Given the description of an element on the screen output the (x, y) to click on. 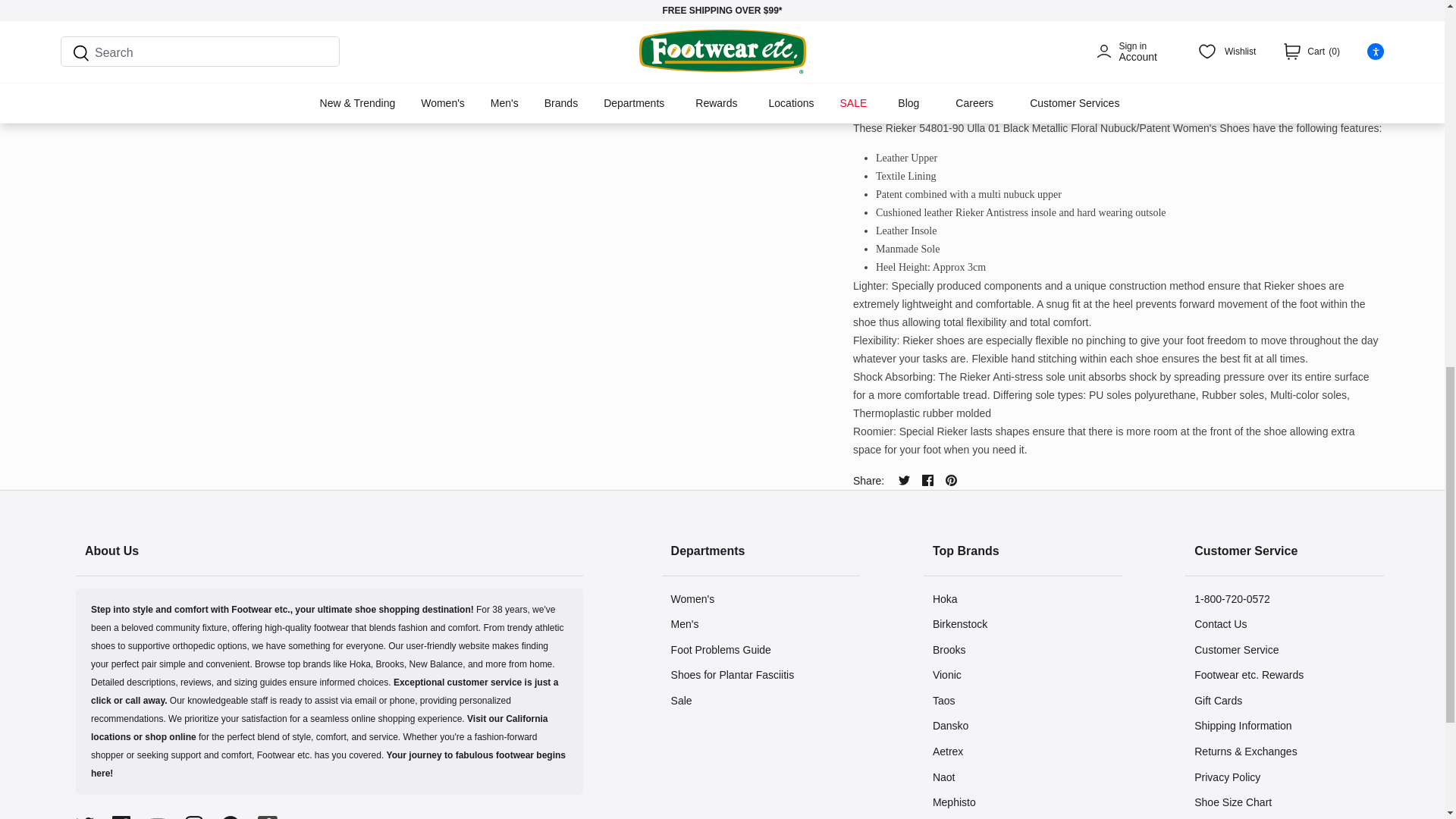
Twitter (84, 817)
Youtube (157, 817)
Twitter (904, 480)
Facebook (121, 817)
Pinterest (950, 480)
Instagram (193, 817)
Pinterest (230, 817)
Facebook (927, 480)
